Given the description of an element on the screen output the (x, y) to click on. 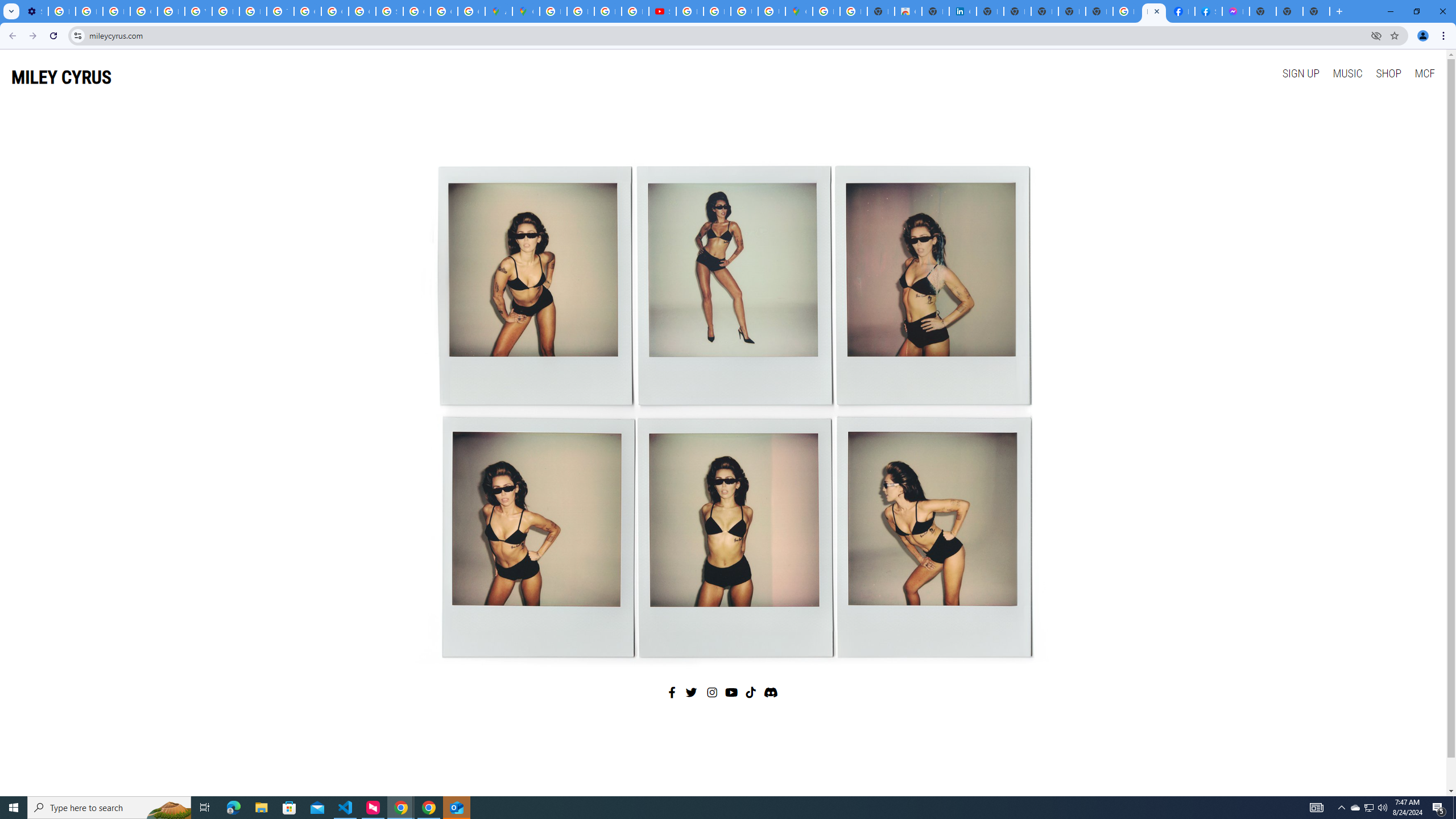
Learn how to find your photos - Google Photos Help (88, 11)
Privacy Help Center - Policies Help (170, 11)
